Given the description of an element on the screen output the (x, y) to click on. 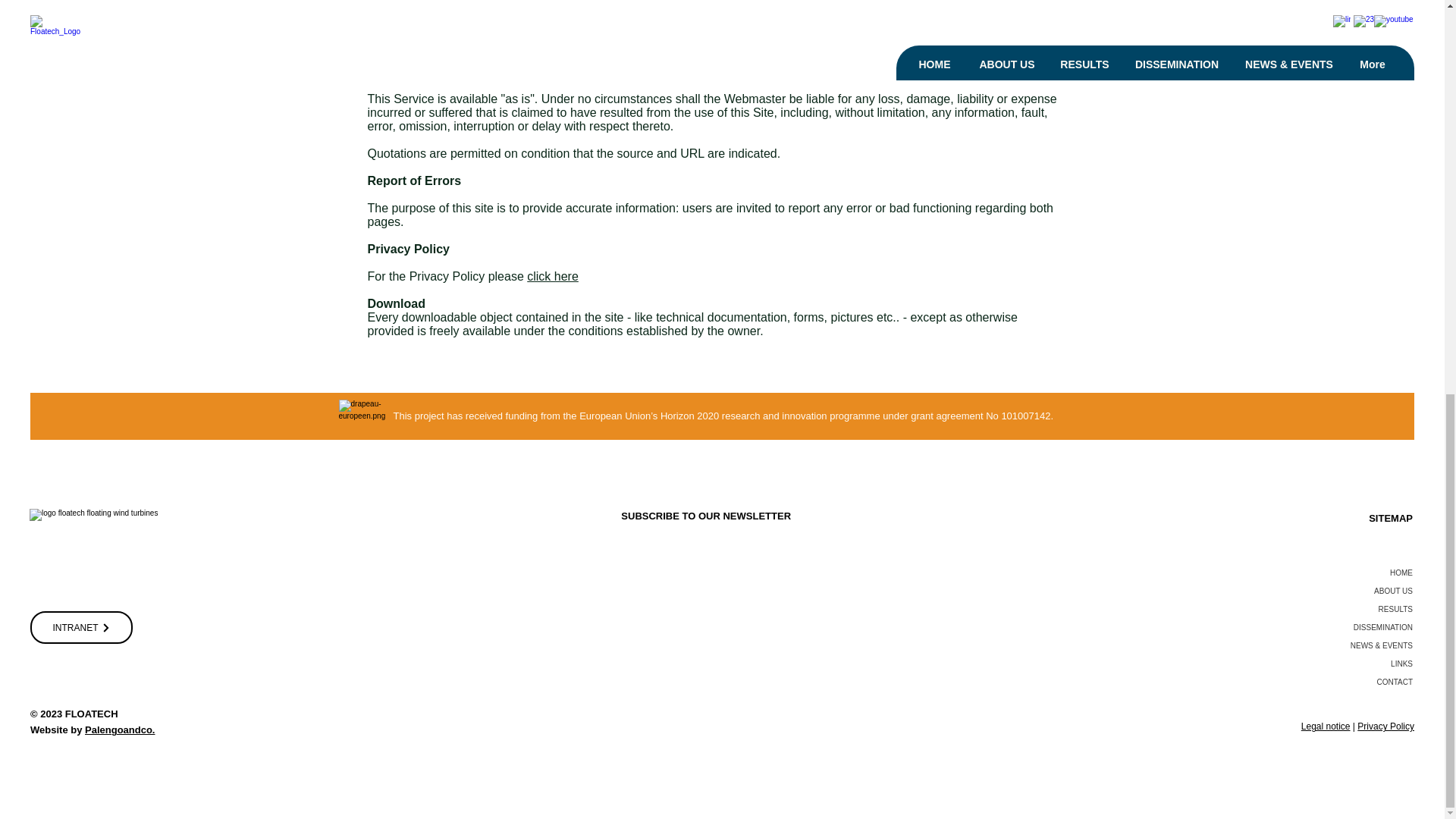
Palengoandco. (119, 729)
INTRANET (81, 626)
click here (552, 276)
HOME (1335, 573)
Legal notice (1326, 726)
CONTACT (1335, 682)
LINKS (1335, 664)
